Given the description of an element on the screen output the (x, y) to click on. 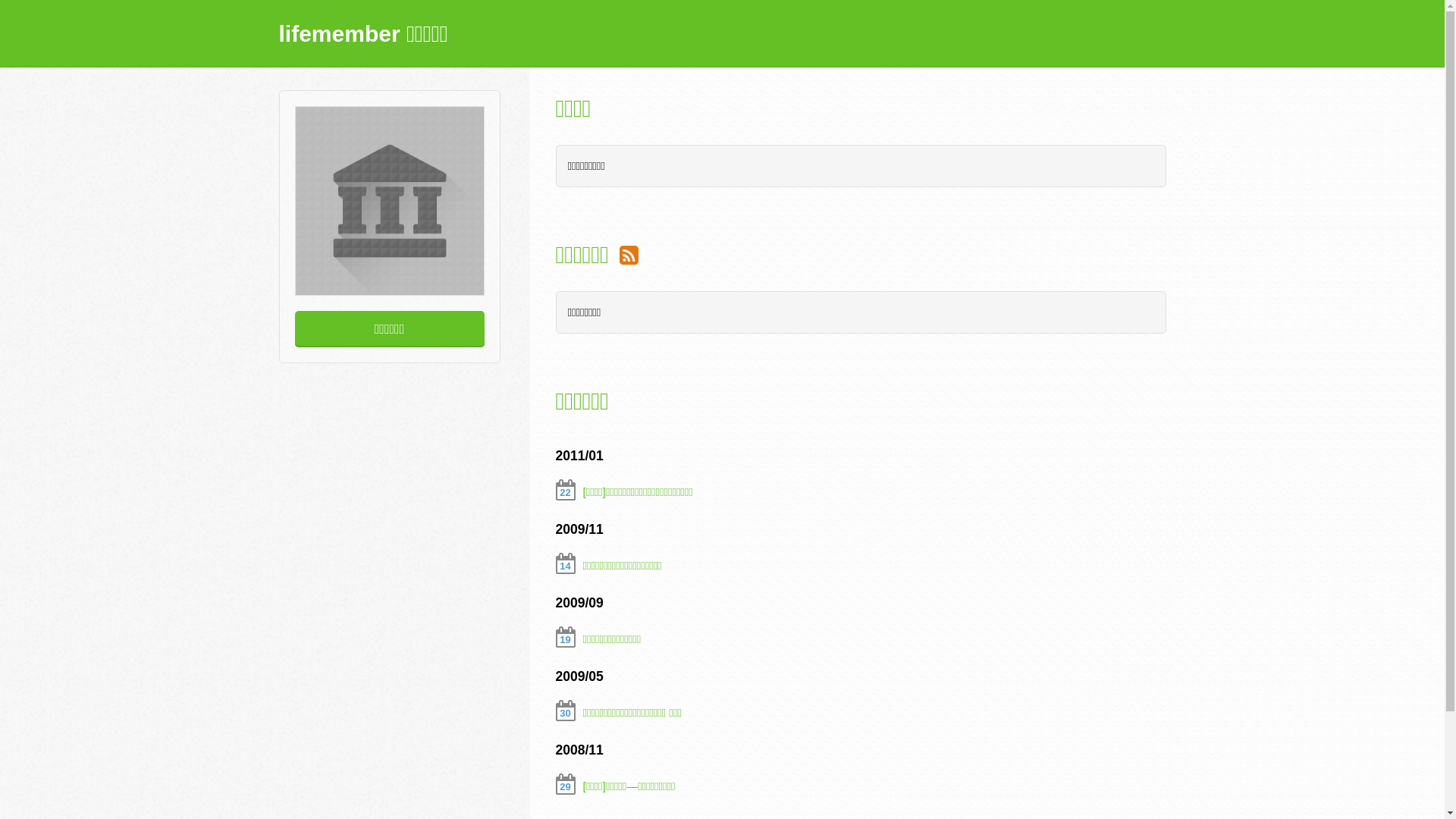
Organization Events RSS Element type: hover (628, 254)
